Given the description of an element on the screen output the (x, y) to click on. 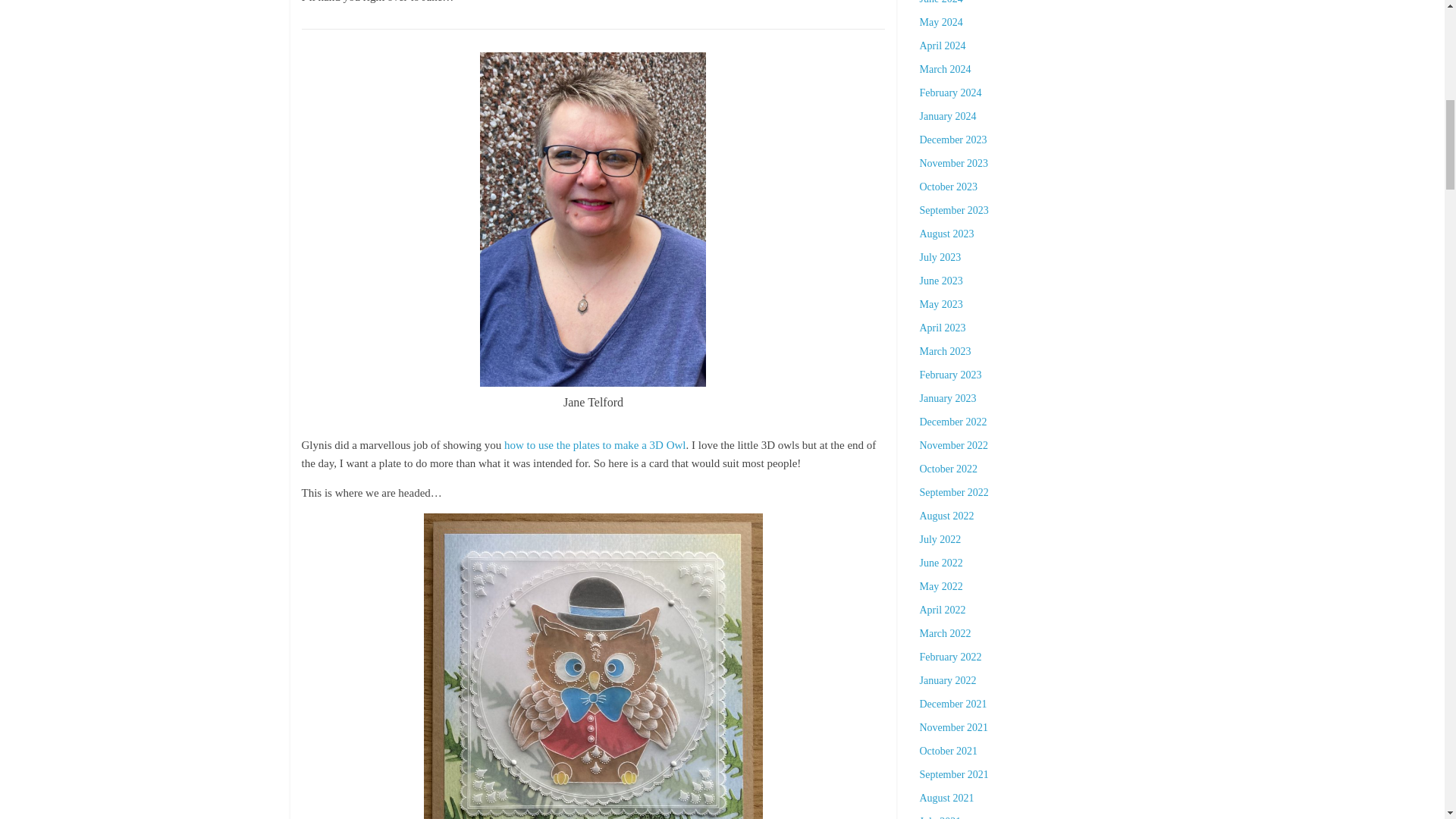
how to use the plates to make a 3D Owl (594, 444)
